Given the description of an element on the screen output the (x, y) to click on. 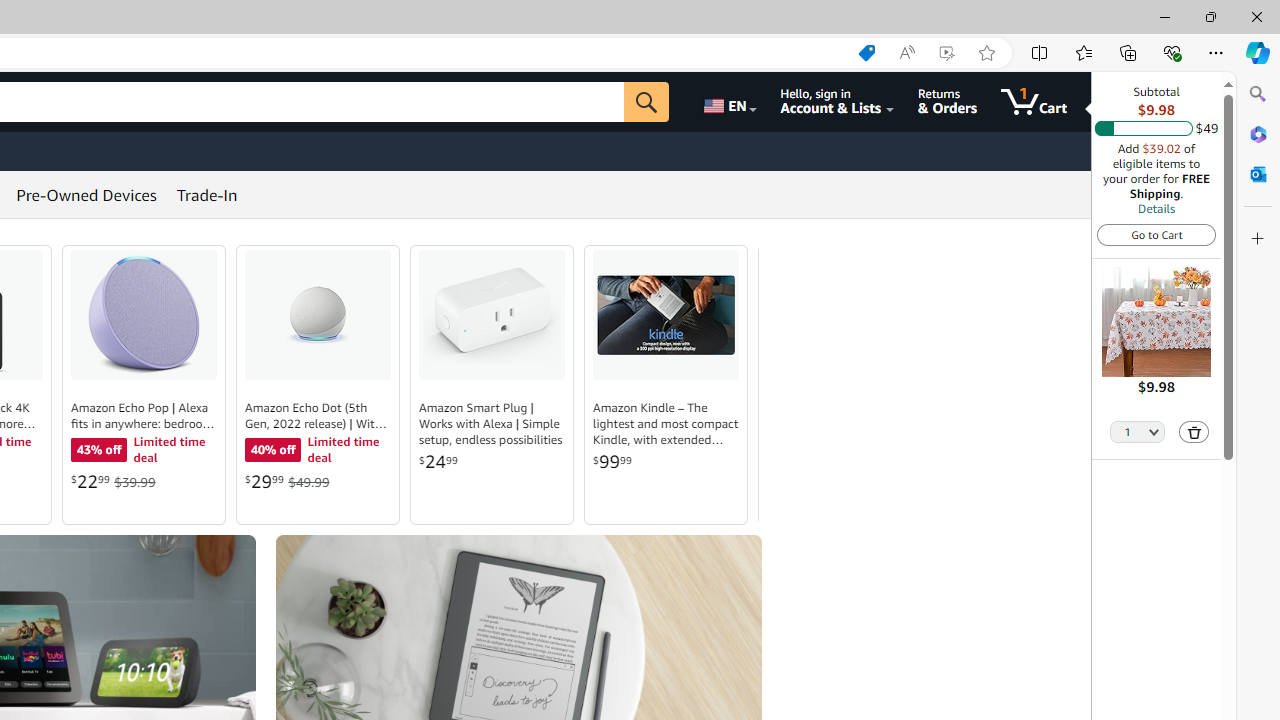
Details (1156, 208)
Shopping in Microsoft Edge (867, 53)
1 item in cart (1034, 101)
Go (646, 101)
Hello, sign in Account & Lists (836, 101)
